Given the description of an element on the screen output the (x, y) to click on. 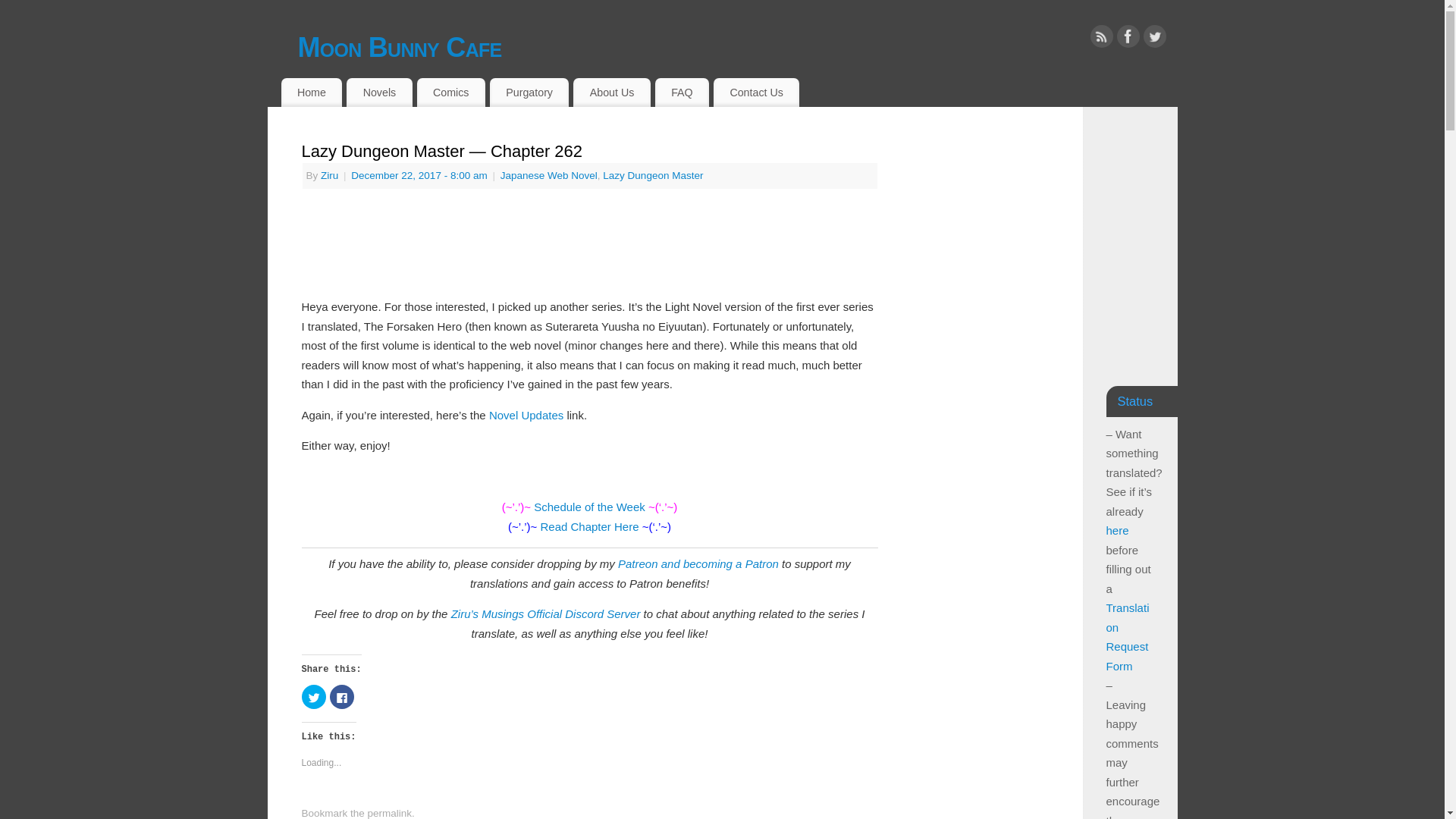
December 22, 2017 - 8:00 am (418, 174)
Novel Updates (526, 414)
Ziru (328, 174)
Home (311, 92)
Moon Bunny Cafe (736, 47)
Click to share on Facebook (341, 696)
Schedule of the Week (589, 506)
here (1116, 530)
About Us (611, 92)
View all posts by Ziru (328, 174)
